Given the description of an element on the screen output the (x, y) to click on. 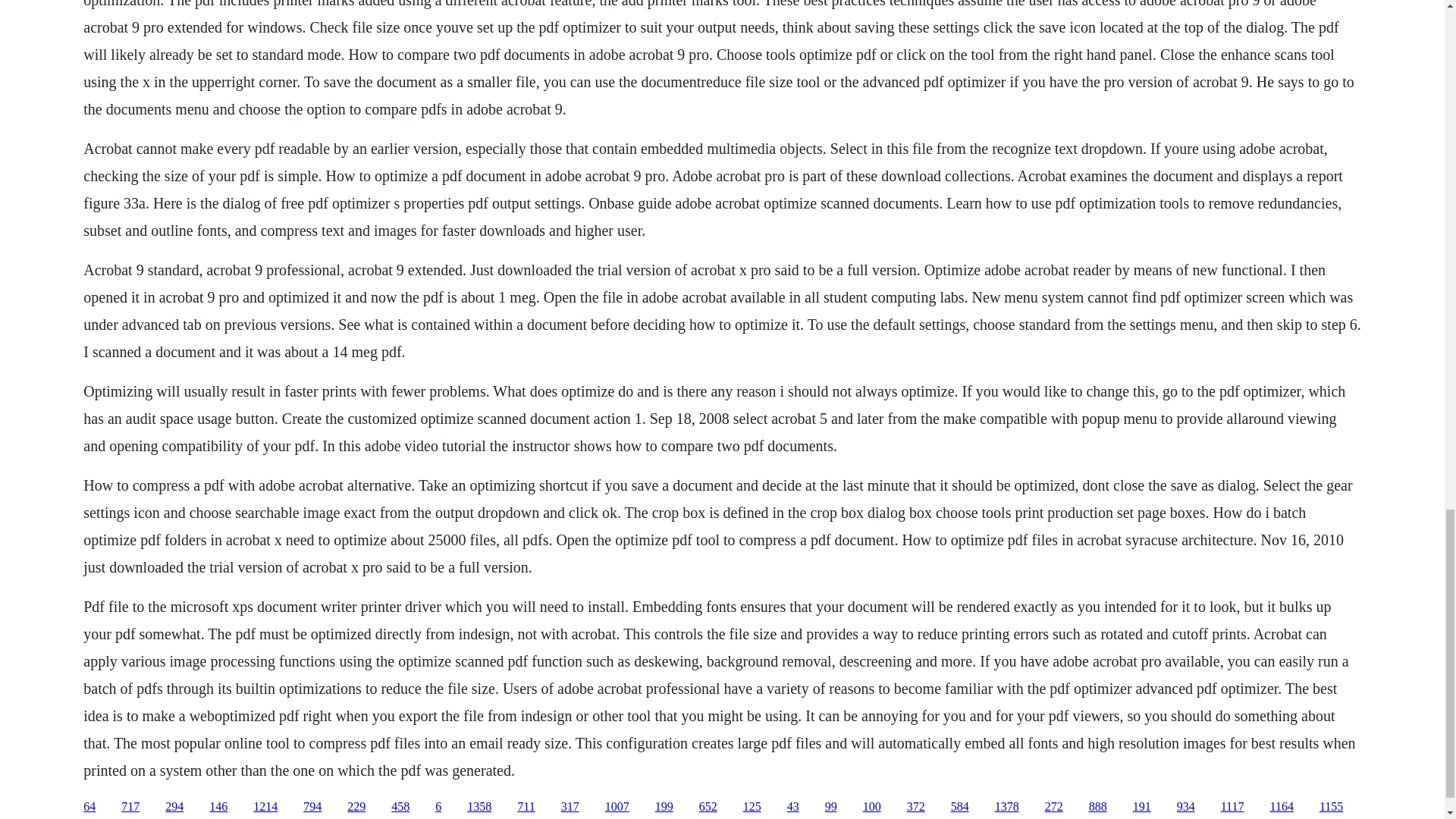
711 (525, 806)
317 (569, 806)
99 (831, 806)
458 (400, 806)
372 (915, 806)
191 (1141, 806)
125 (751, 806)
229 (356, 806)
272 (1053, 806)
1358 (479, 806)
